Given the description of an element on the screen output the (x, y) to click on. 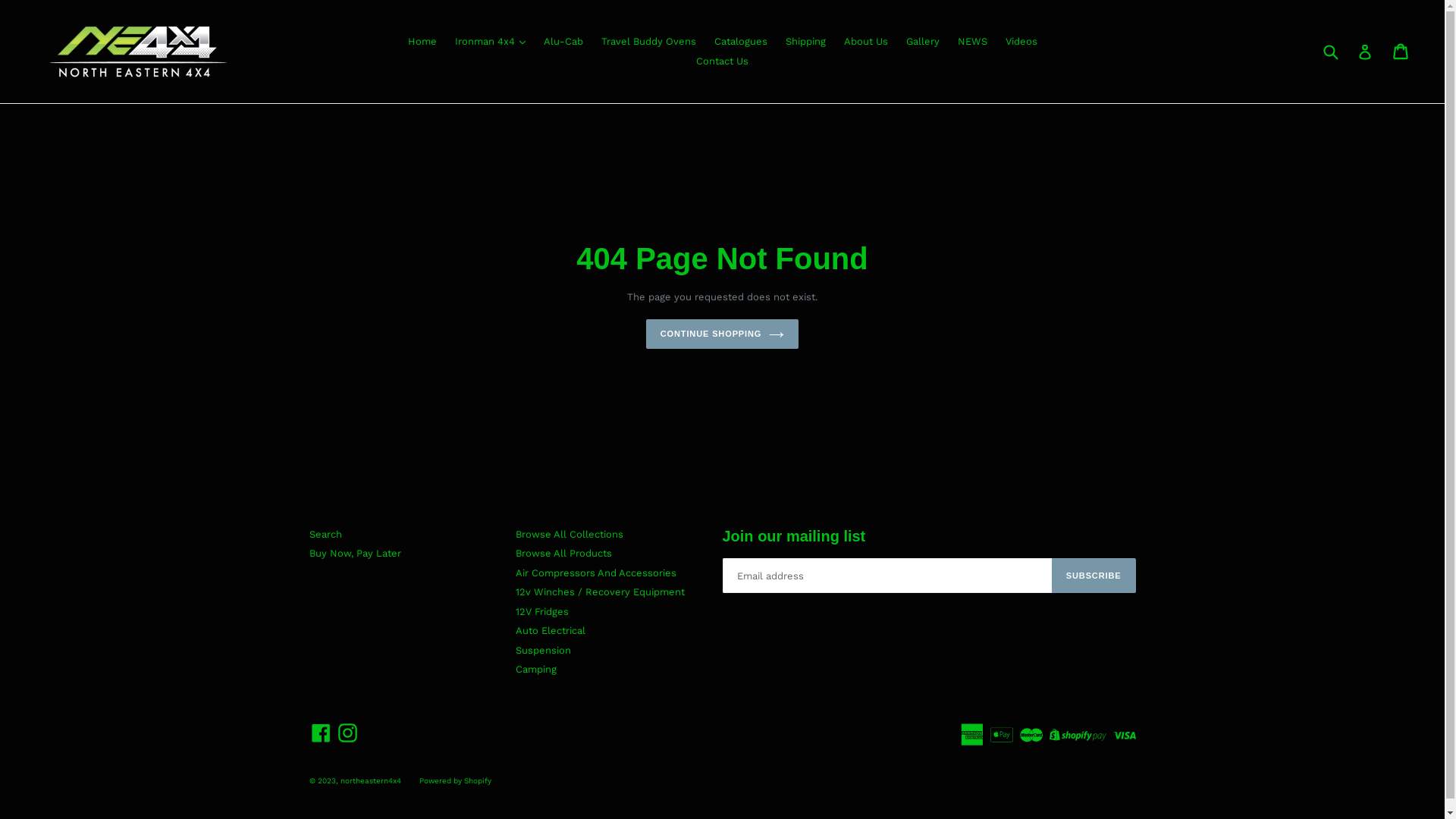
Buy Now, Pay Later Element type: text (355, 552)
CONTINUE SHOPPING Element type: text (722, 333)
Log in Element type: text (1364, 51)
Search Element type: text (325, 533)
Powered by Shopify Element type: text (454, 780)
12V Fridges Element type: text (541, 610)
Browse All Products Element type: text (563, 552)
Home Element type: text (422, 41)
northeastern4x4 Element type: text (369, 780)
Cart Element type: text (1401, 51)
Shipping Element type: text (805, 41)
Gallery Element type: text (921, 41)
Facebook Element type: text (320, 732)
SUBSCRIBE Element type: text (1093, 575)
Catalogues Element type: text (740, 41)
Air Compressors And Accessories Element type: text (595, 572)
Videos Element type: text (1020, 41)
Submit Element type: text (1329, 51)
Alu-Cab Element type: text (562, 41)
Browse All Collections Element type: text (569, 533)
12v Winches / Recovery Equipment Element type: text (599, 591)
Travel Buddy Ovens Element type: text (647, 41)
Instagram Element type: text (346, 732)
NEWS Element type: text (971, 41)
About Us Element type: text (864, 41)
Camping Element type: text (535, 668)
Suspension Element type: text (543, 649)
Contact Us Element type: text (722, 61)
Auto Electrical Element type: text (550, 630)
